Given the description of an element on the screen output the (x, y) to click on. 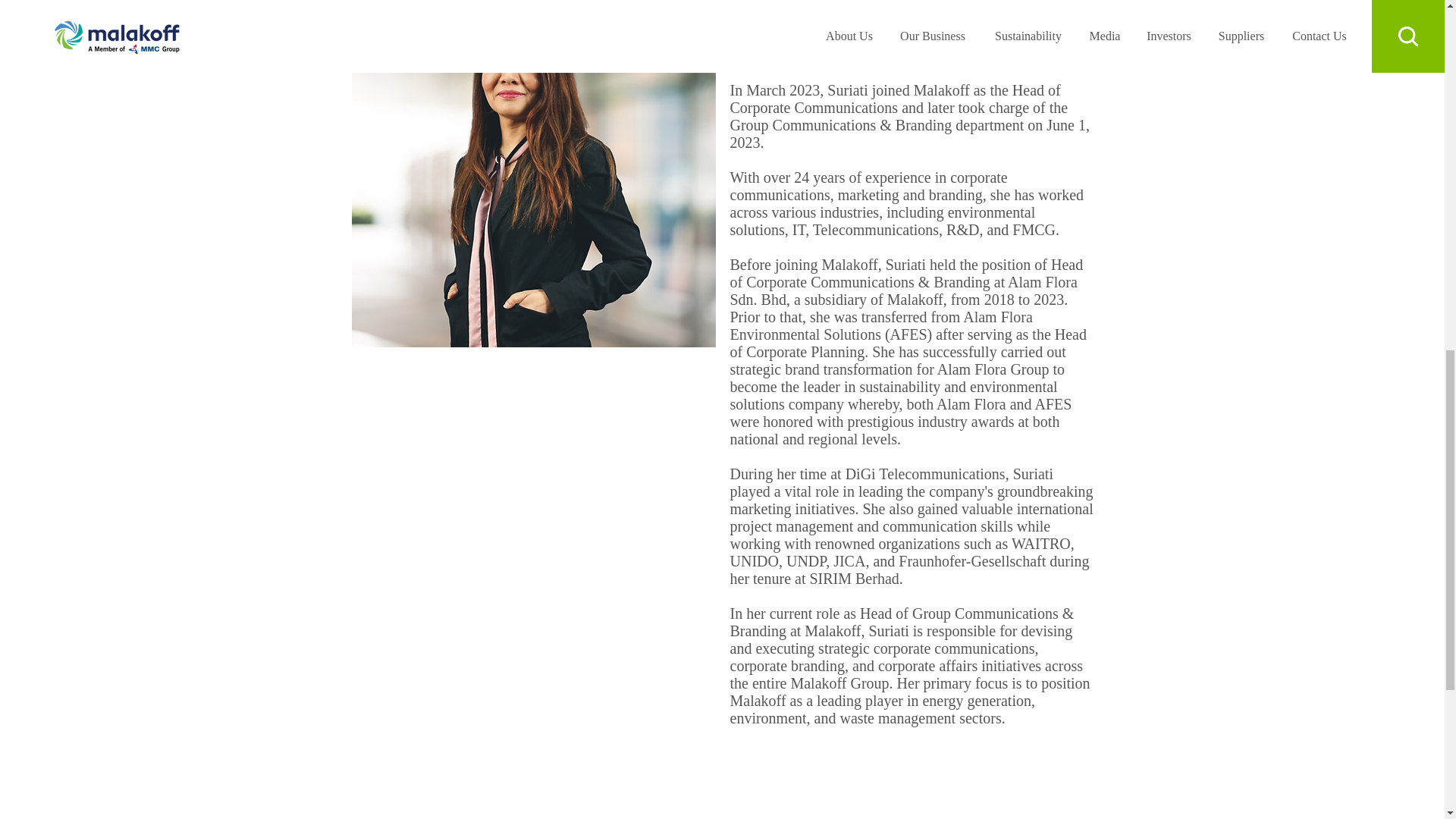
Suriati Mohammad Mokhtar (534, 173)
